Given the description of an element on the screen output the (x, y) to click on. 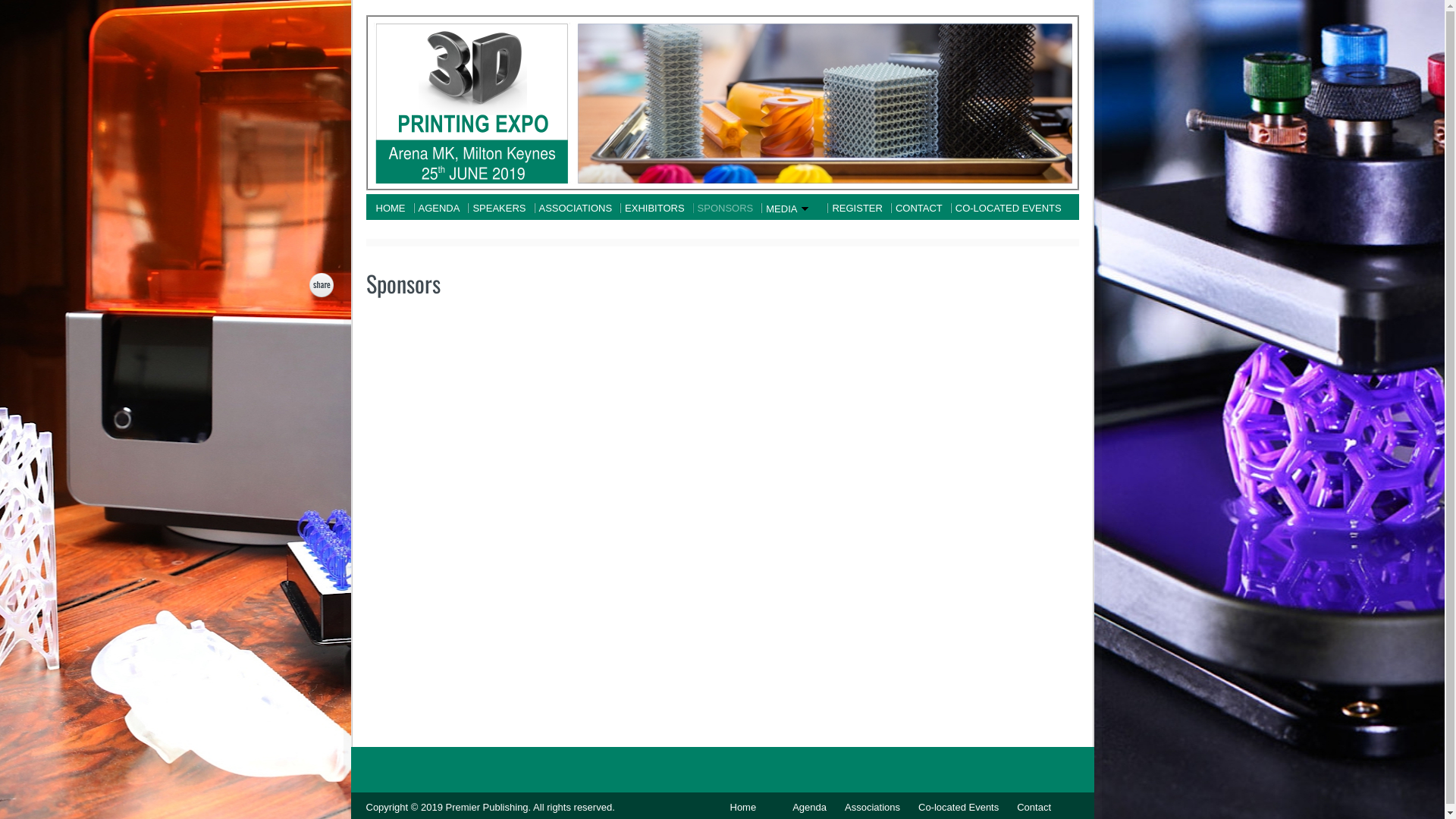
REGISTER Element type: text (856, 208)
CO-LOCATED EVENTS Element type: text (1009, 208)
Co-located Events Element type: text (953, 806)
HOME Element type: text (389, 208)
SPONSORS Element type: text (725, 208)
Associations Element type: text (867, 806)
Premier Publishing Element type: text (486, 806)
Agenda Element type: text (804, 806)
EXHIBITORS Element type: text (654, 208)
AGENDA Element type: text (438, 208)
Home Element type: text (742, 806)
SPEAKERS Element type: text (498, 208)
CONTACT Element type: text (918, 208)
Contact Element type: text (1029, 806)
ASSOCIATIONS Element type: text (575, 208)
